Given the description of an element on the screen output the (x, y) to click on. 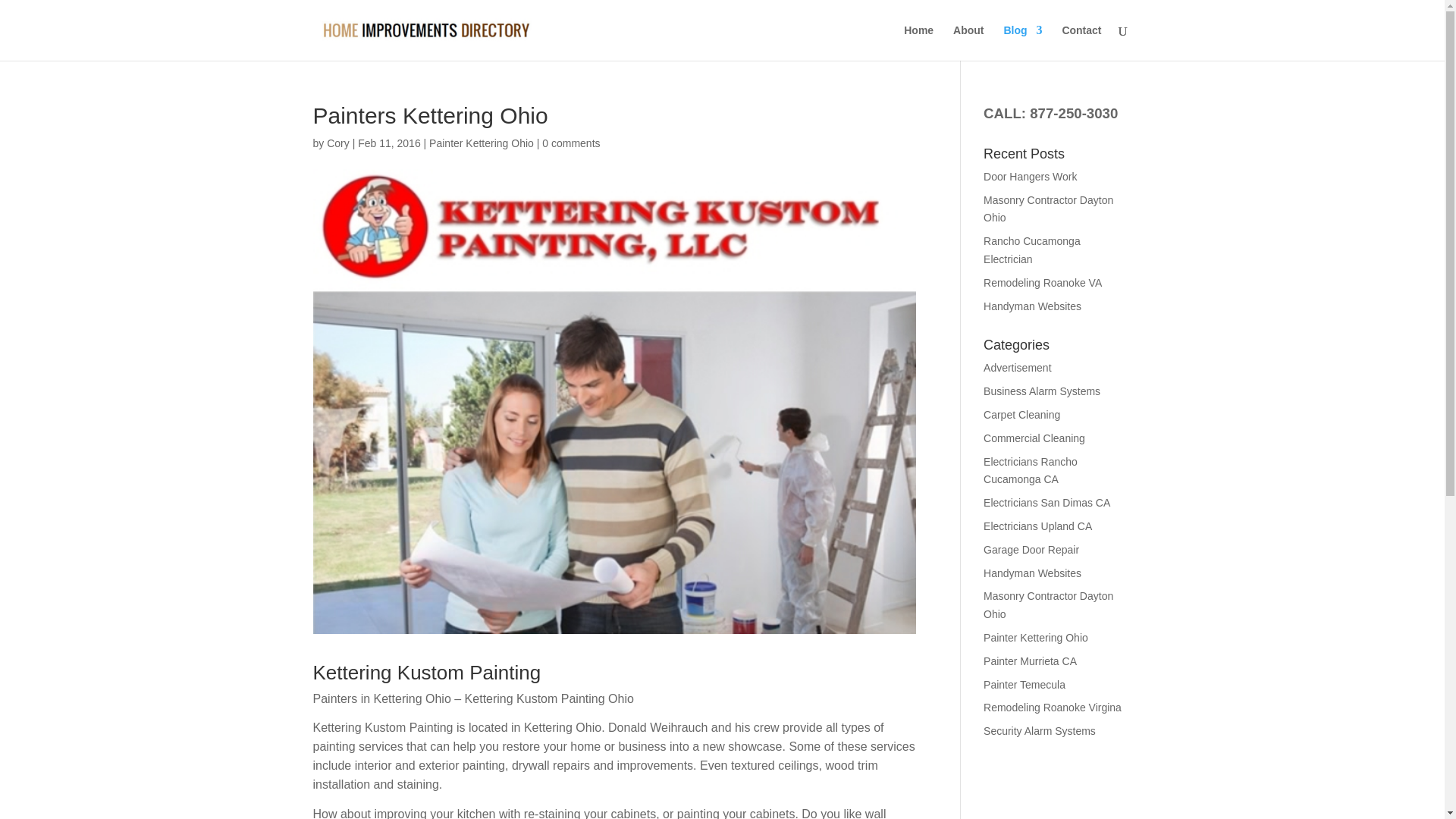
Commercial Cleaning (1034, 438)
Remodeling Roanoke VA (1043, 282)
Carpet Cleaning (1021, 414)
0 comments (570, 143)
Handyman Websites (1032, 573)
Electricians Rancho Cucamonga CA (1030, 470)
Garage Door Repair (1031, 549)
Handyman Websites (1032, 306)
Remodeling Roanoke Virgina (1052, 707)
Painter Kettering Ohio (481, 143)
